Given the description of an element on the screen output the (x, y) to click on. 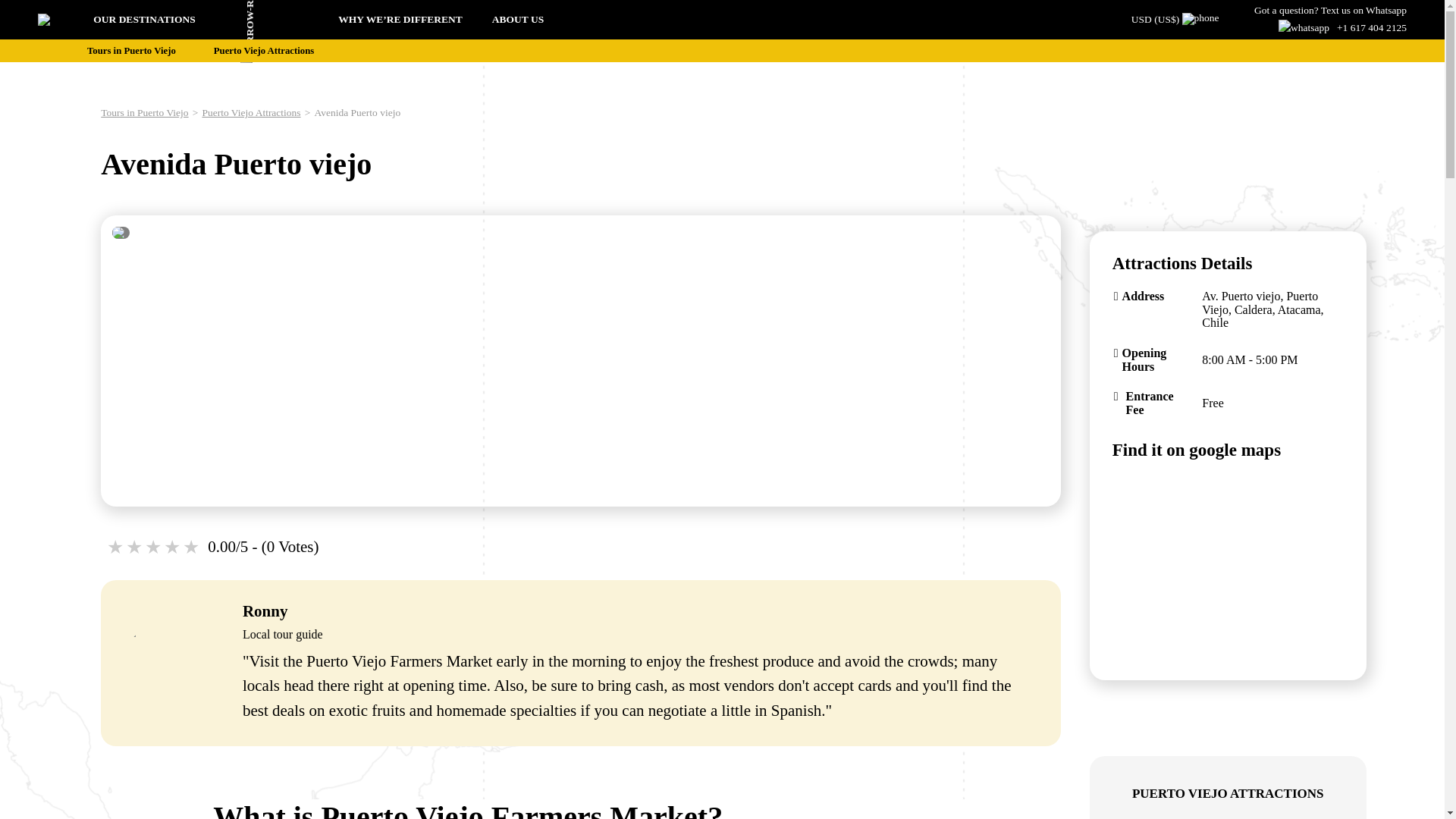
4 stars (173, 547)
3 stars (153, 547)
2 stars (134, 547)
1 stars (115, 547)
OUR DESTINATIONS (194, 19)
5 stars (192, 547)
